Given the description of an element on the screen output the (x, y) to click on. 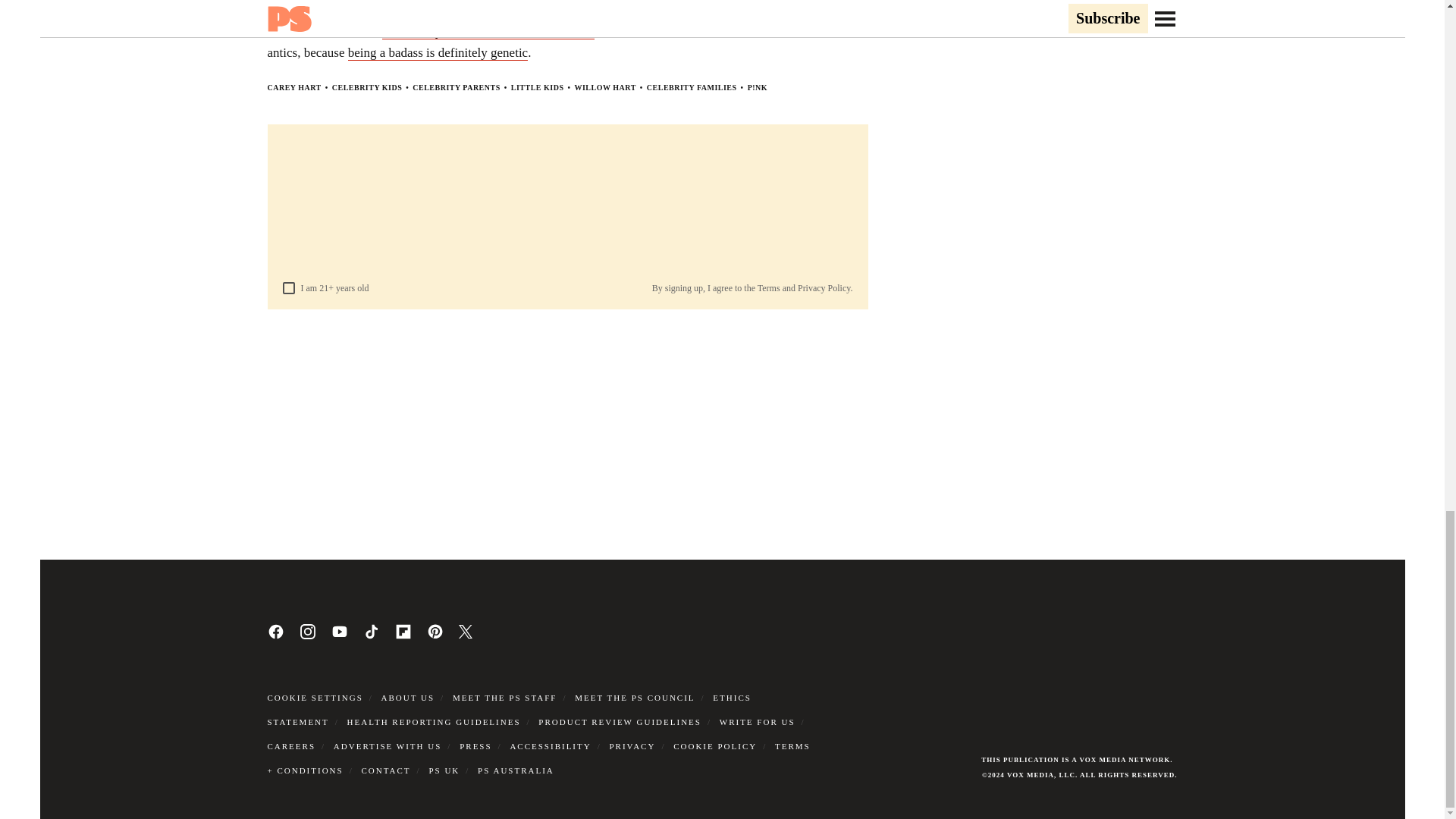
introducing Willow to Rihanna (783, 10)
ABOUT US (408, 697)
LITTLE KIDS (537, 87)
CELEBRITY PARENTS (455, 87)
CELEBRITY FAMILIES (691, 87)
Privacy Policy. (825, 287)
MEET THE PS STAFF (504, 697)
being a badass is definitely genetic (437, 52)
Terms (768, 287)
CAREY HART (293, 87)
MEET THE PS COUNCIL (634, 697)
CELEBRITY KIDS (367, 87)
WILLOW HART (603, 87)
Hart family knows how to make us smile (487, 31)
P!NK (757, 87)
